Given the description of an element on the screen output the (x, y) to click on. 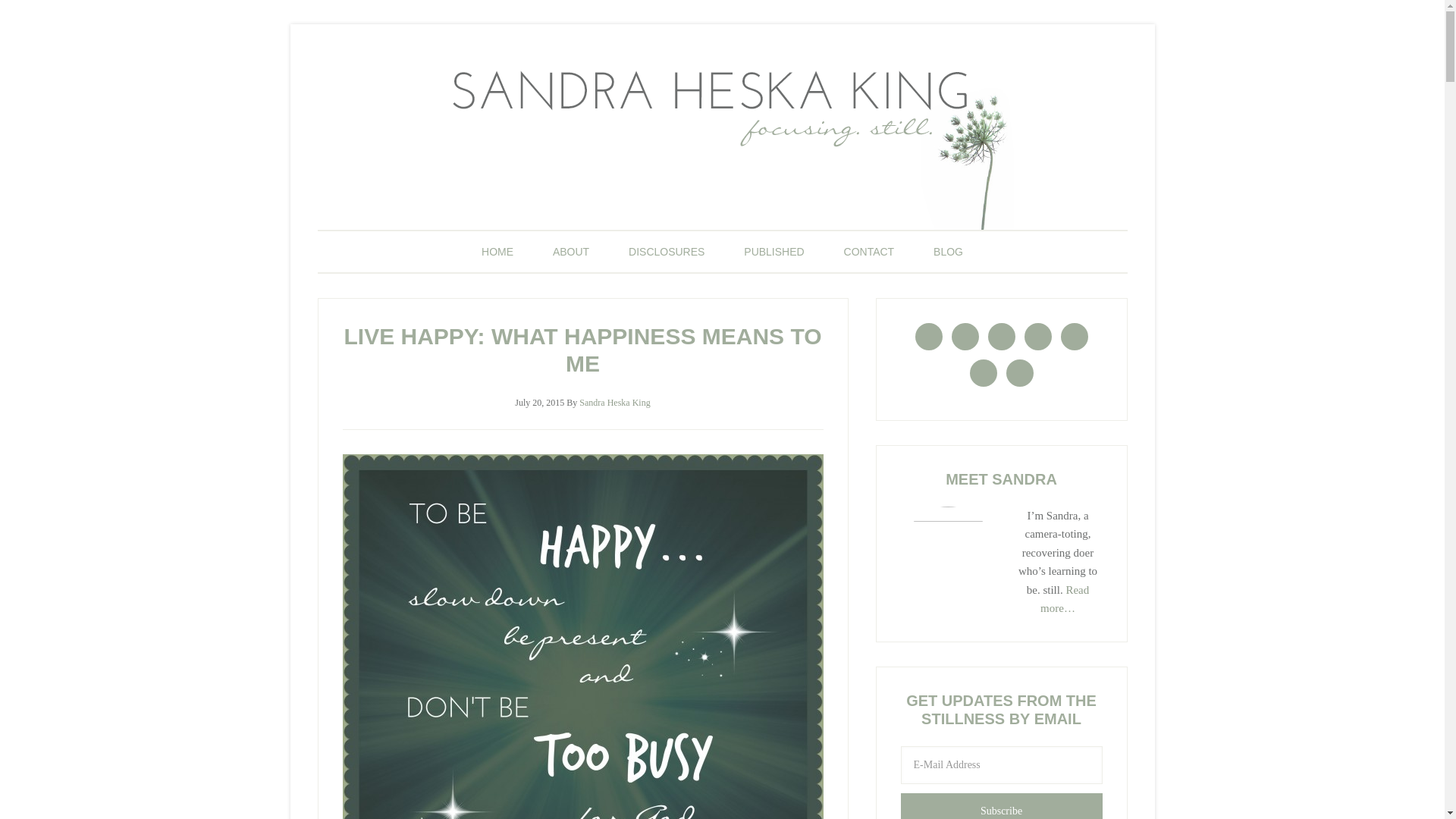
CONTACT (868, 250)
DISCLOSURES (666, 250)
HOME (497, 250)
Sandra Heska King (614, 402)
ABOUT (570, 250)
PUBLISHED (773, 250)
Subscribe (1001, 806)
BLOG (948, 250)
